Given the description of an element on the screen output the (x, y) to click on. 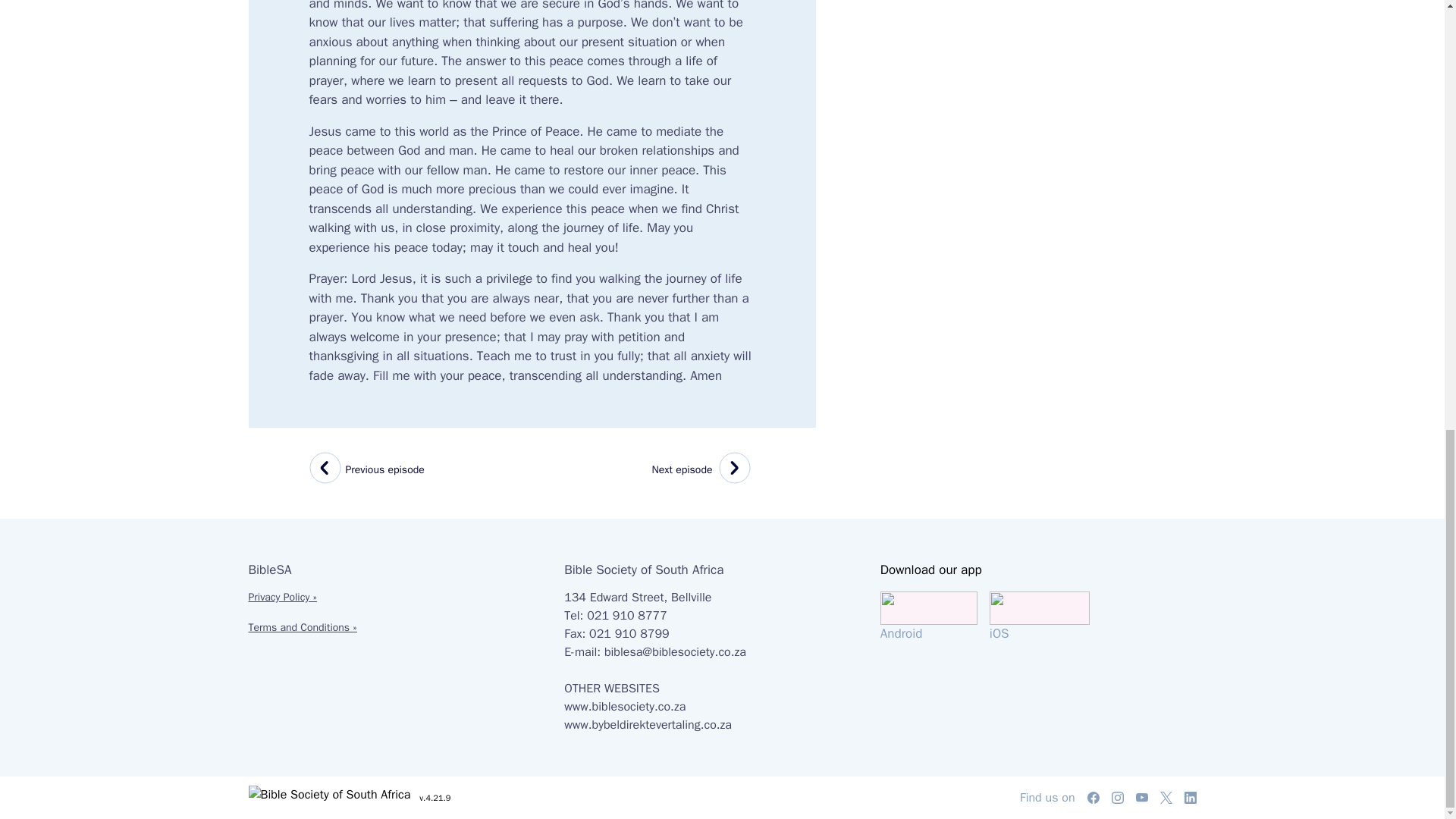
Android (935, 616)
Instagram (1118, 797)
previous (366, 470)
Facebook (327, 470)
iOS (1093, 797)
www.biblesociety.co.za (1039, 616)
www.bybeldirektevertaling.co.za (624, 706)
Twitter (648, 724)
LinkedIn (1166, 797)
YouTube (703, 470)
Right (1190, 797)
